Given the description of an element on the screen output the (x, y) to click on. 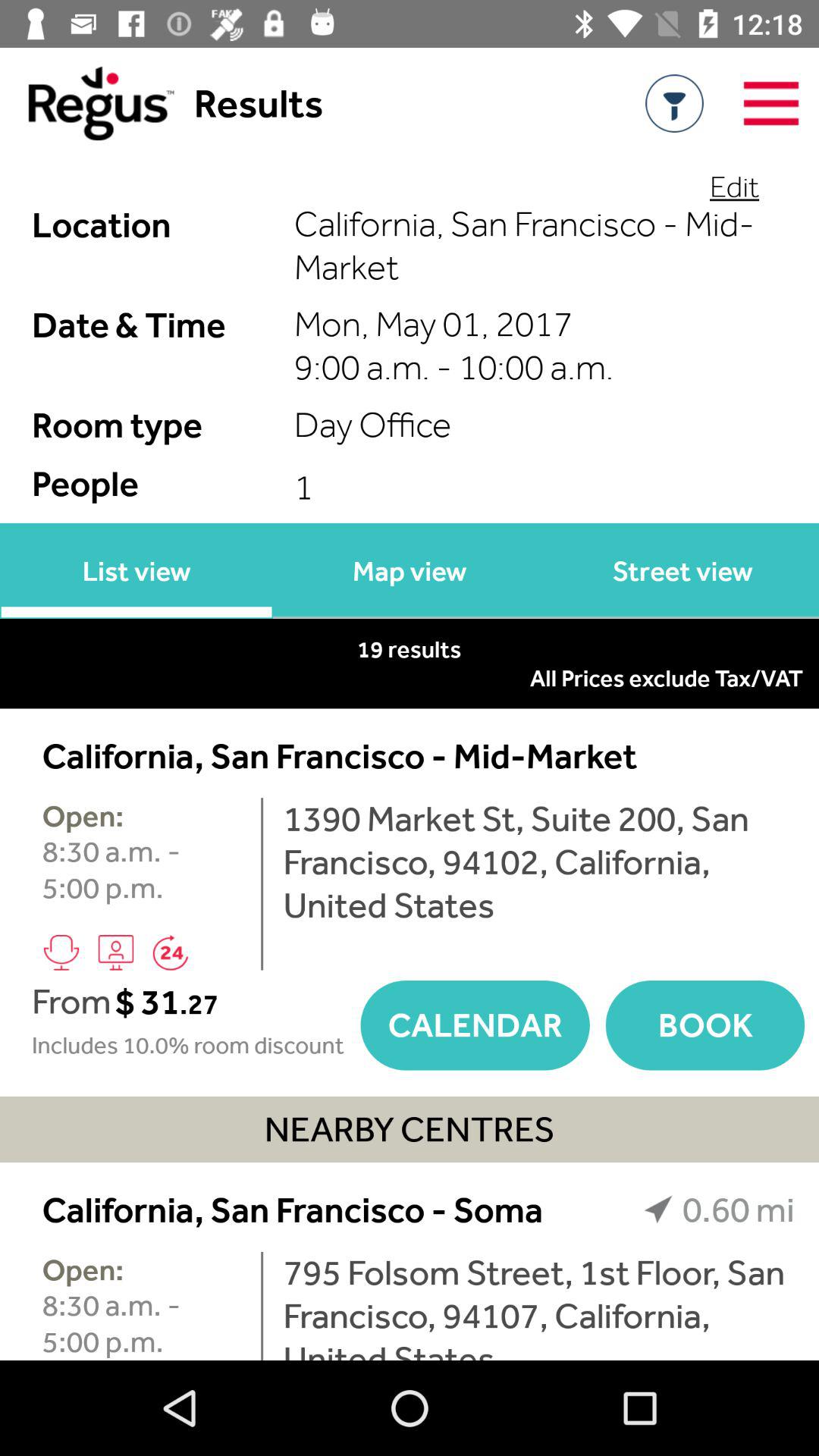
open the item below the 1390 market st (704, 1025)
